Given the description of an element on the screen output the (x, y) to click on. 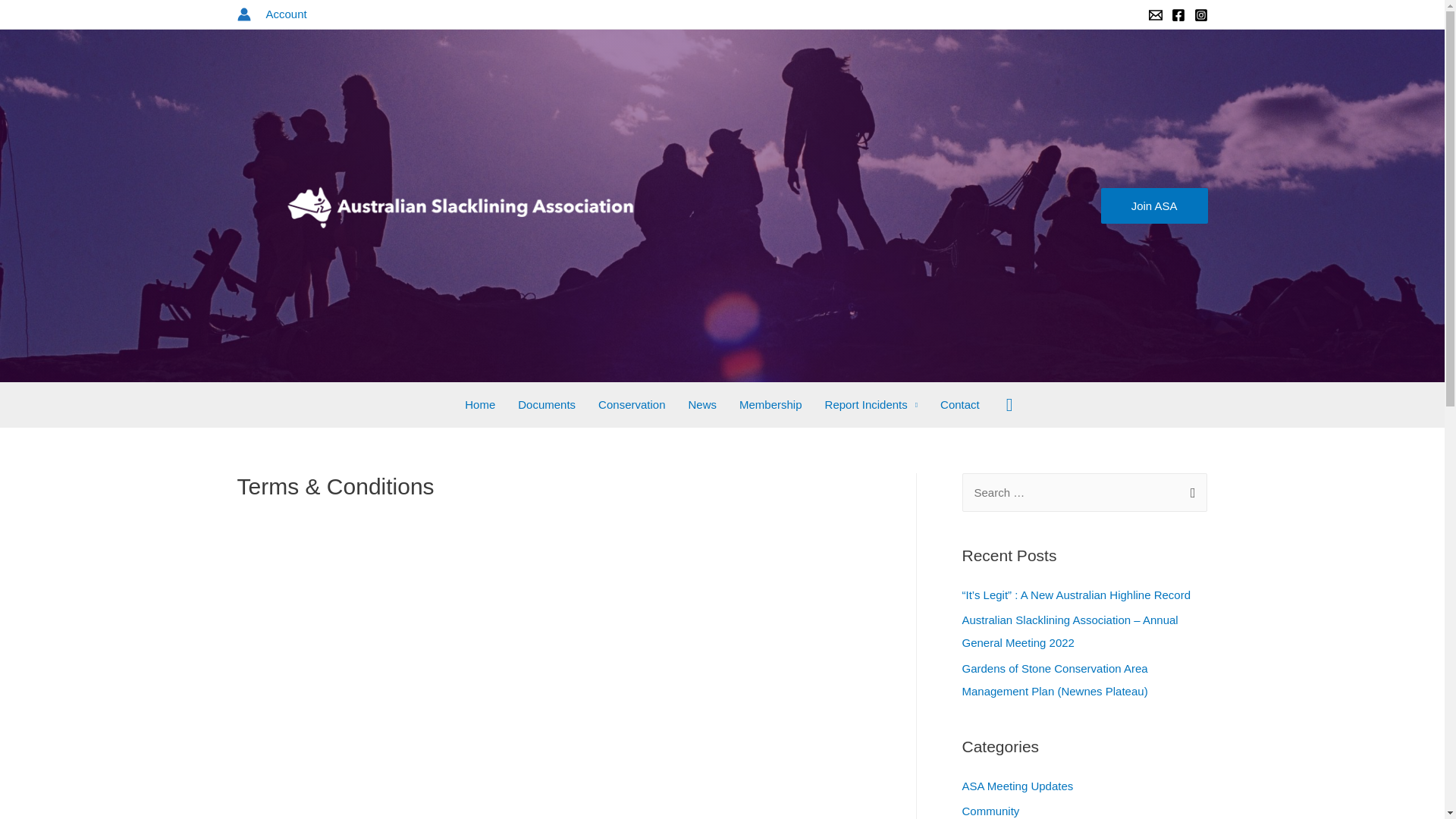
Membership Element type: text (770, 404)
News Element type: text (702, 404)
Report Incidents Element type: text (871, 404)
ASA Meeting Updates Element type: text (1017, 785)
Join ASA Element type: text (1154, 206)
Account Element type: text (285, 13)
Search Element type: text (1009, 404)
Contact Element type: text (959, 404)
Documents Element type: text (546, 404)
Conservation Element type: text (631, 404)
Community Element type: text (990, 810)
Home Element type: text (479, 404)
Search Element type: text (33, 17)
Search Element type: text (1189, 493)
